Given the description of an element on the screen output the (x, y) to click on. 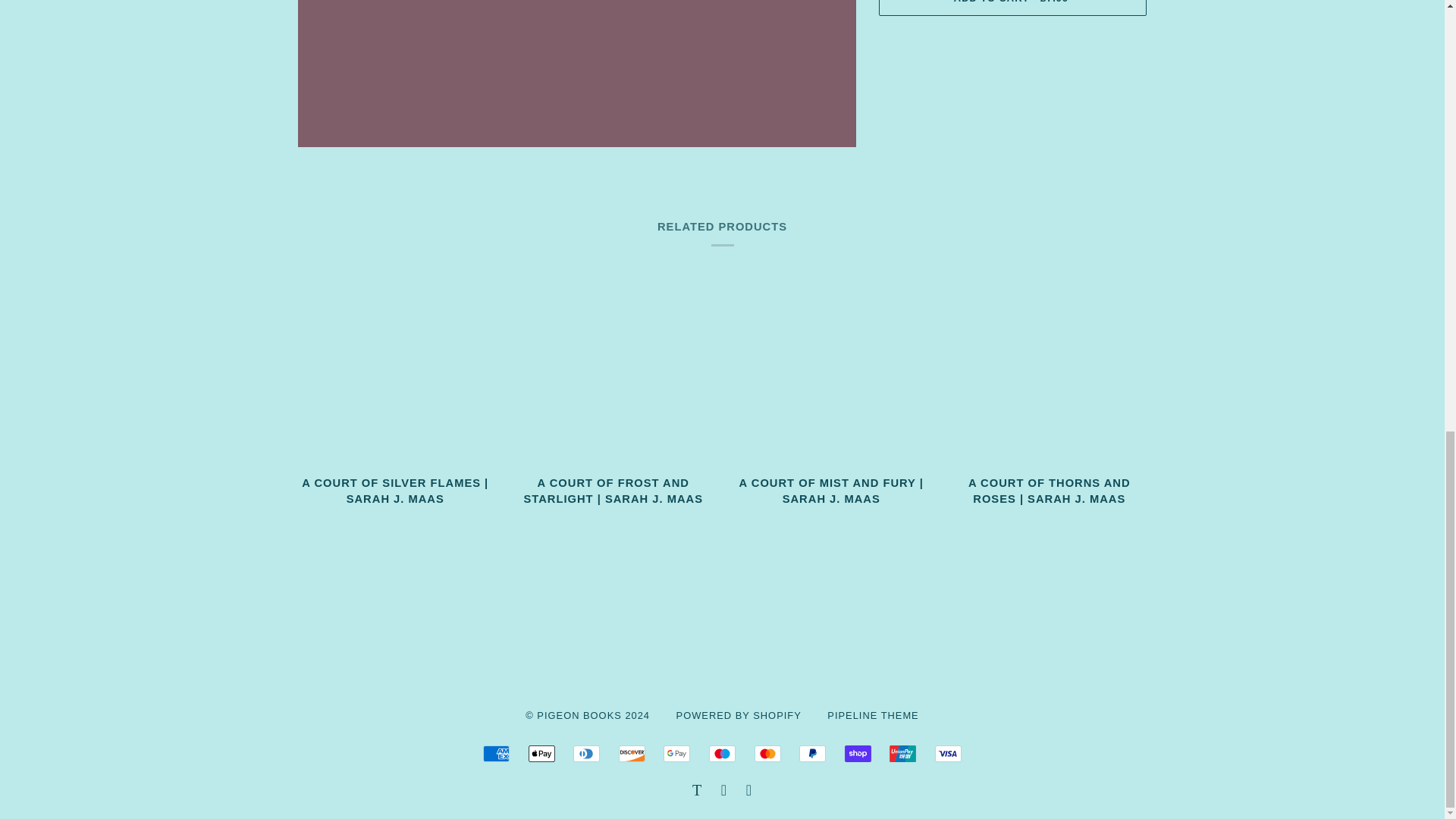
DISCOVER (631, 753)
SHOP PAY (857, 753)
VISA (947, 753)
MASTERCARD (767, 753)
APPLE PAY (541, 753)
DINERS CLUB (586, 753)
UNION PAY (902, 753)
MAESTRO (722, 753)
AMERICAN EXPRESS (496, 753)
GOOGLE PAY (676, 753)
